Given the description of an element on the screen output the (x, y) to click on. 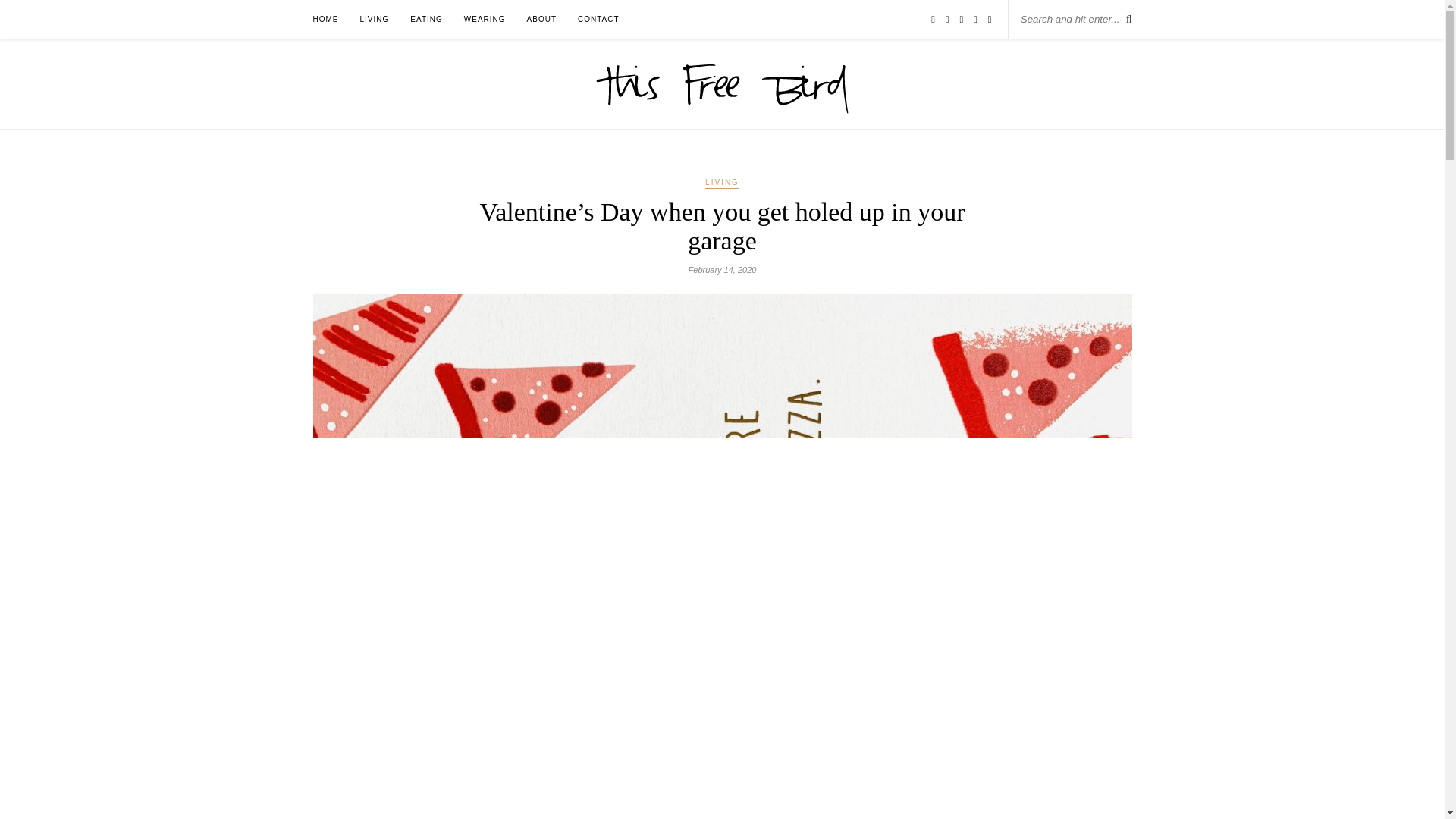
View all posts in Living (721, 183)
WEARING (484, 19)
LIVING (721, 183)
CONTACT (599, 19)
